Given the description of an element on the screen output the (x, y) to click on. 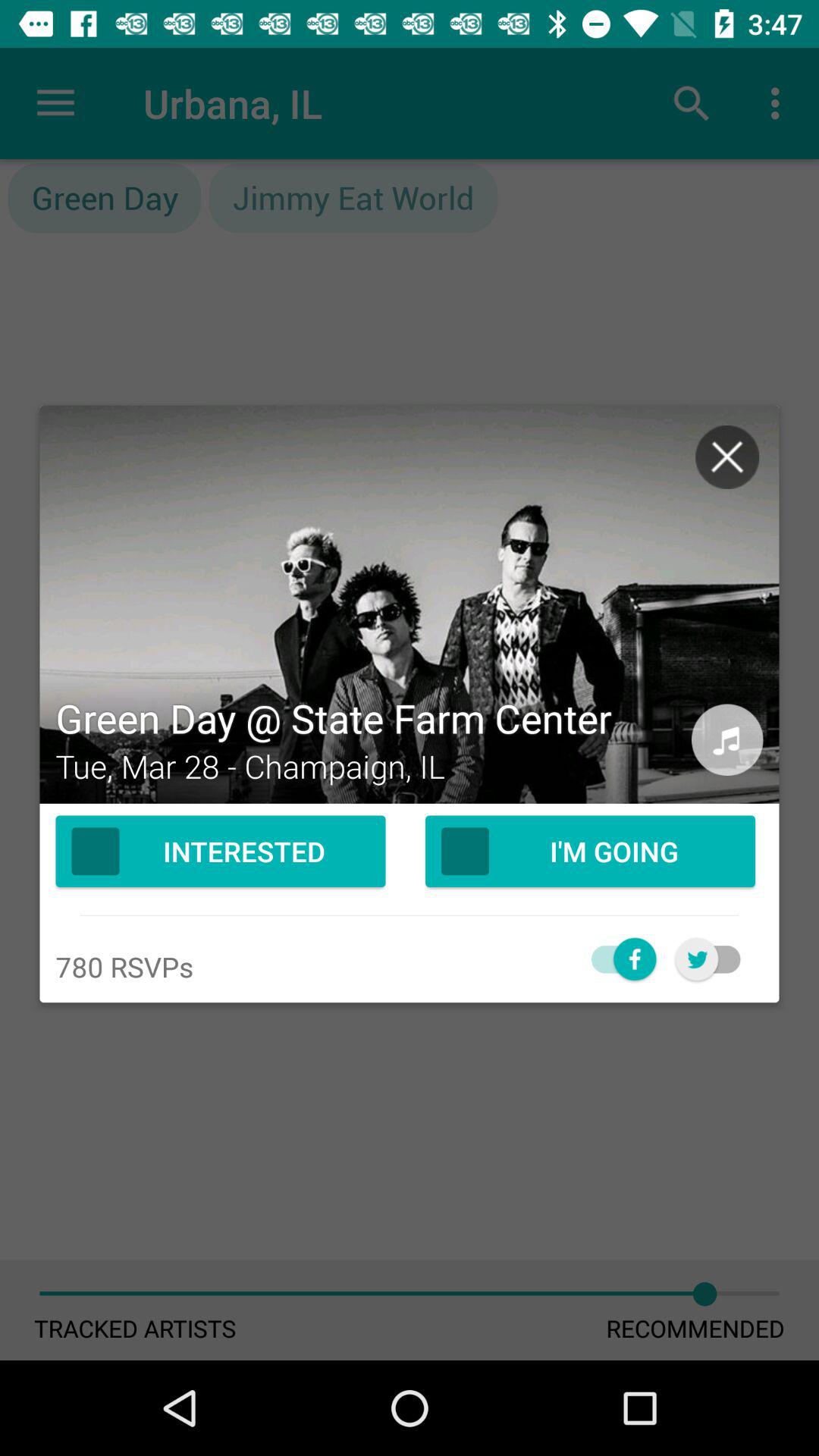
listen (727, 739)
